Given the description of an element on the screen output the (x, y) to click on. 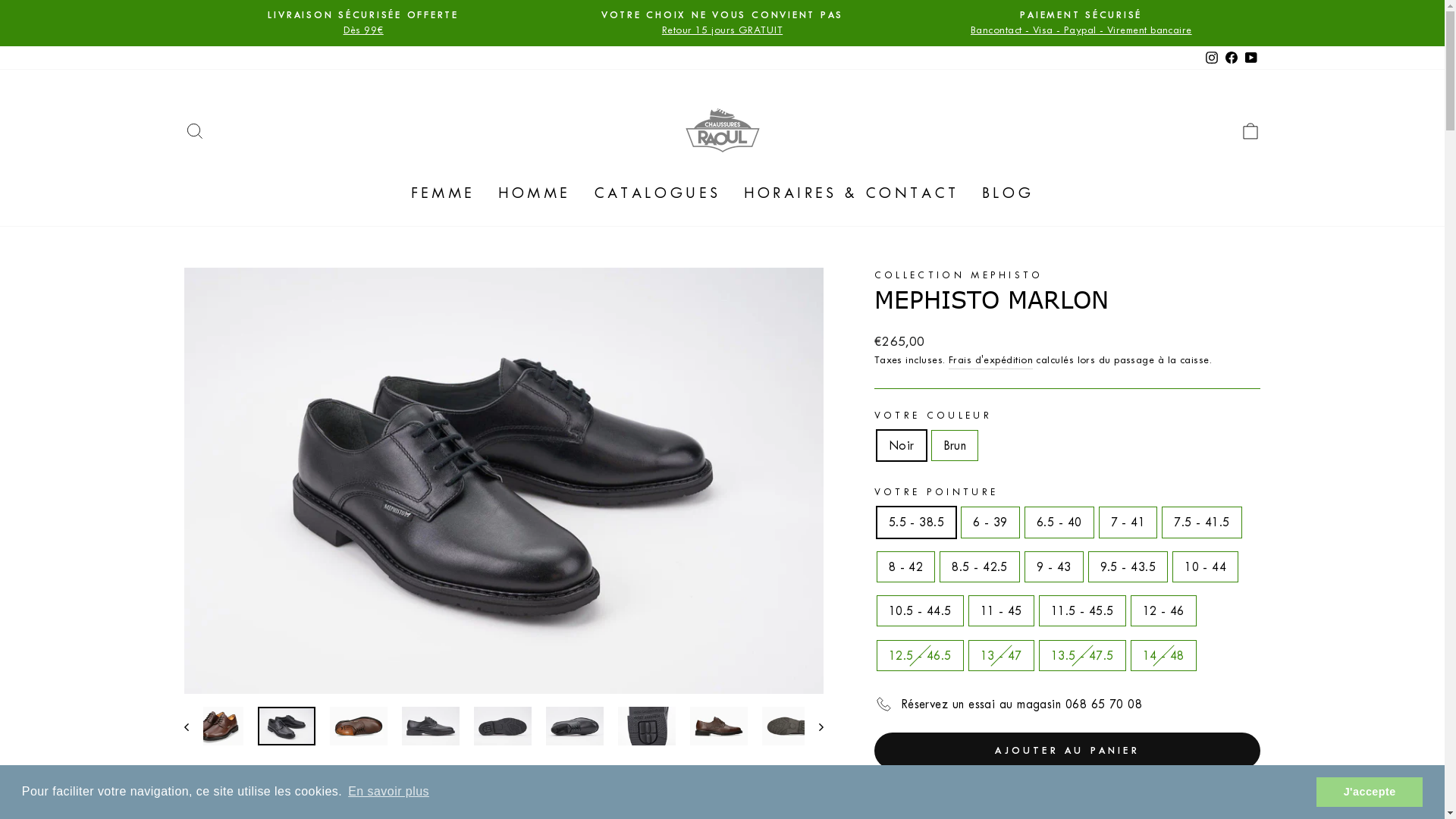
FEMME Element type: text (442, 192)
COLLECTION MEPHISTO Element type: text (958, 274)
AJOUTER AU PANIER Element type: text (1067, 750)
HOMME Element type: text (534, 192)
Facebook Element type: text (1230, 57)
VOTRE CHOIX NE VOUS CONVIENT PAS
Retour 15 jours GRATUIT Element type: text (721, 22)
PANIER Element type: text (1249, 129)
BLOG Element type: text (1007, 192)
YouTube Element type: text (1250, 57)
En savoir plus Element type: text (388, 791)
J'accepte Element type: text (1369, 791)
Instagram Element type: text (1210, 57)
RECHERCHER Element type: text (193, 129)
HORAIRES & CONTACT Element type: text (851, 192)
CATALOGUES Element type: text (657, 192)
